Given the description of an element on the screen output the (x, y) to click on. 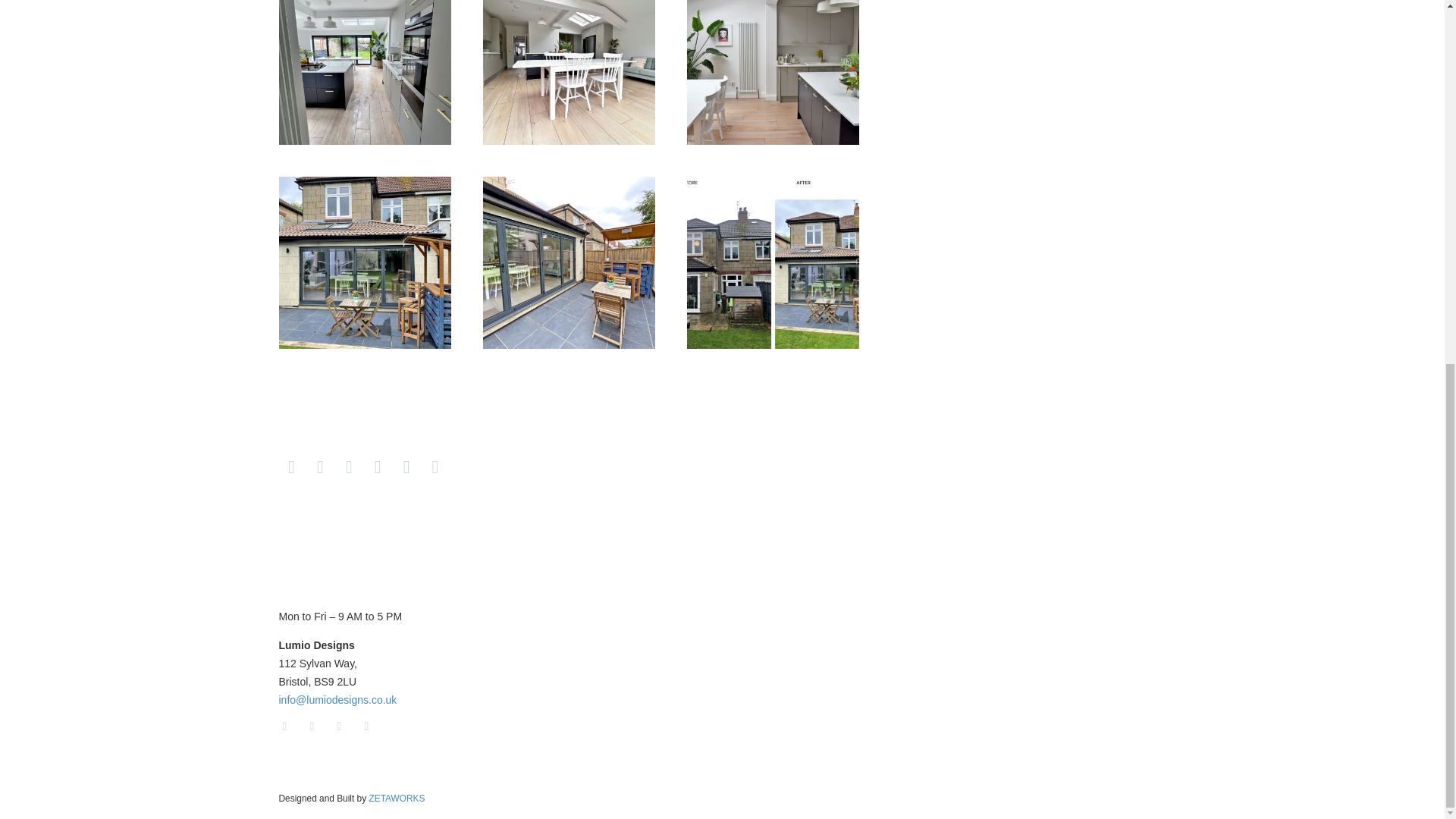
Reddit (435, 466)
Pinterest (348, 466)
Tumblr (377, 466)
Facebook (290, 466)
LinkedIn (405, 466)
Twitter (320, 466)
